Given the description of an element on the screen output the (x, y) to click on. 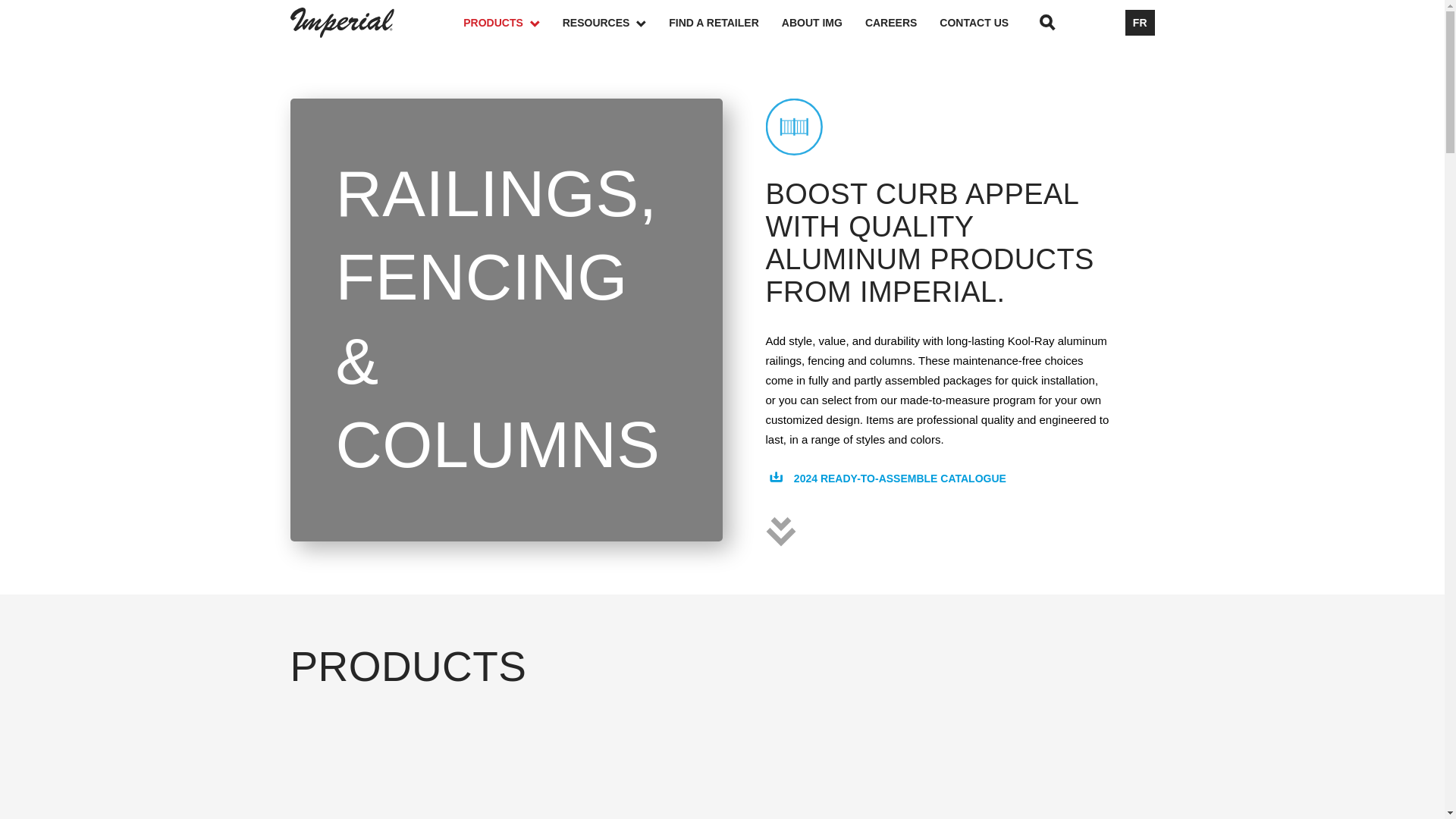
Products (512, 22)
FR (1139, 22)
About IMG (822, 22)
ABOUT IMG (822, 22)
Find a retailer (724, 22)
FIND A RETAILER (724, 22)
CONTACT US (984, 22)
Search for a product (1047, 22)
PRODUCTS (512, 22)
Contact Us (984, 22)
Resources (615, 22)
CAREERS (901, 22)
RESOURCES (615, 22)
2024 READY-TO-ASSEMBLE CATALOGUE (896, 491)
Careers (901, 22)
